Given the description of an element on the screen output the (x, y) to click on. 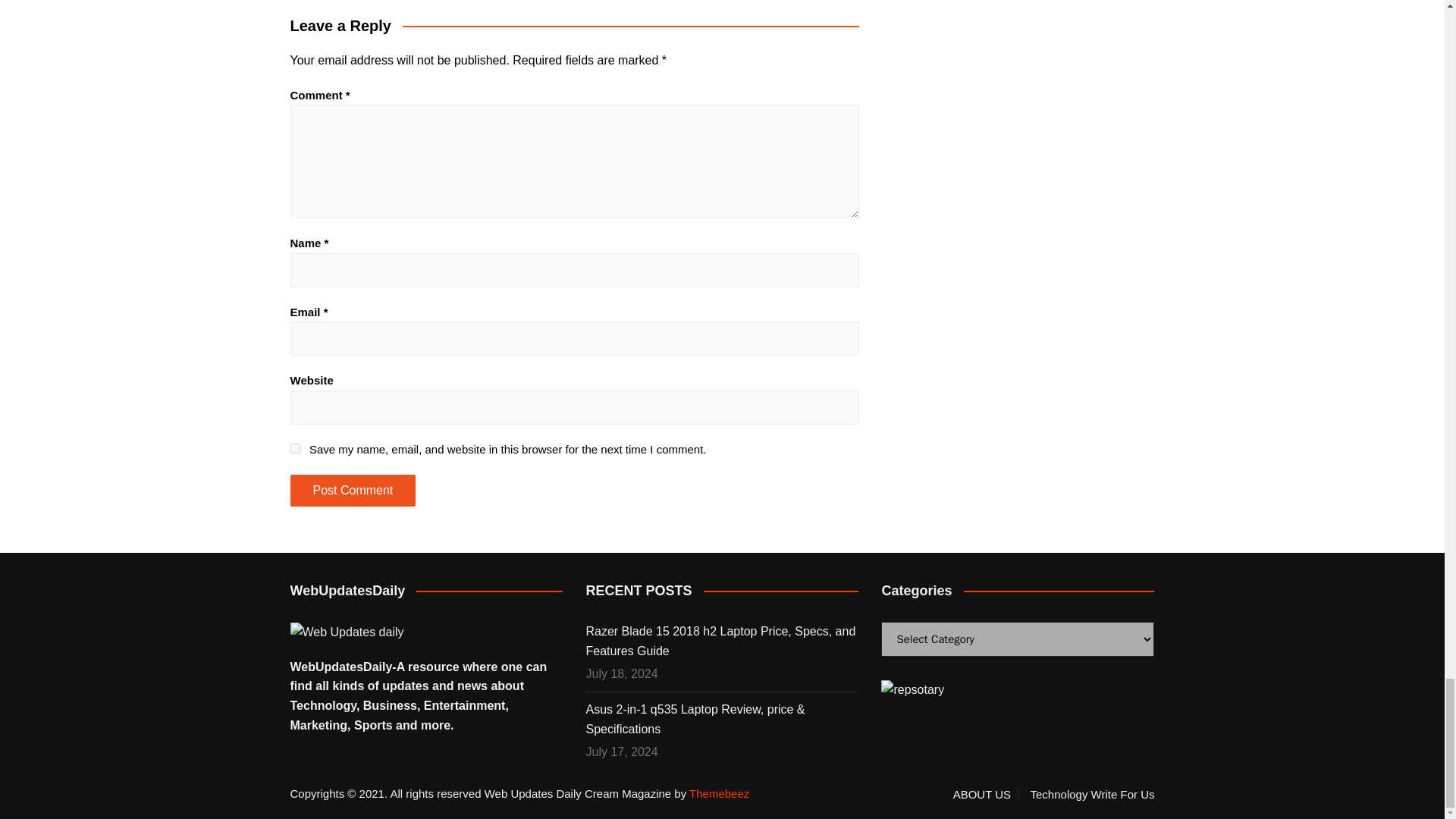
yes (294, 448)
Post Comment (351, 490)
